Given the description of an element on the screen output the (x, y) to click on. 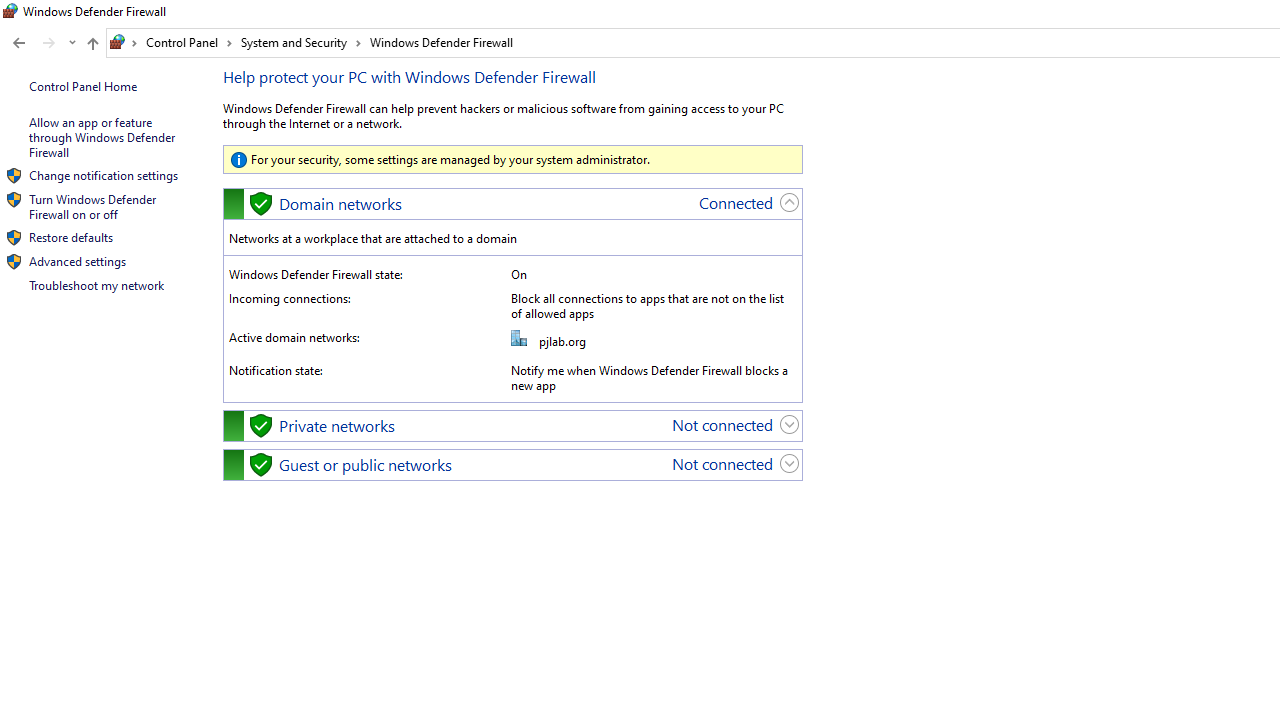
Turn Windows Defender Firewall on or off (93, 206)
Troubleshoot my network (96, 285)
All locations (124, 42)
Not connected (721, 462)
Up to "System and Security" (Alt + Up Arrow) (92, 43)
Windows Defender Firewall (441, 42)
Back to System and Security (Alt + Left Arrow) (18, 43)
Change notification settings (103, 174)
System and Security (301, 42)
Forward (Alt + Right Arrow) (49, 43)
Advanced settings (77, 261)
Allow an app or feature through Windows Defender Firewall (103, 137)
Recent locations (71, 43)
System (10, 11)
Navigation buttons (41, 43)
